Given the description of an element on the screen output the (x, y) to click on. 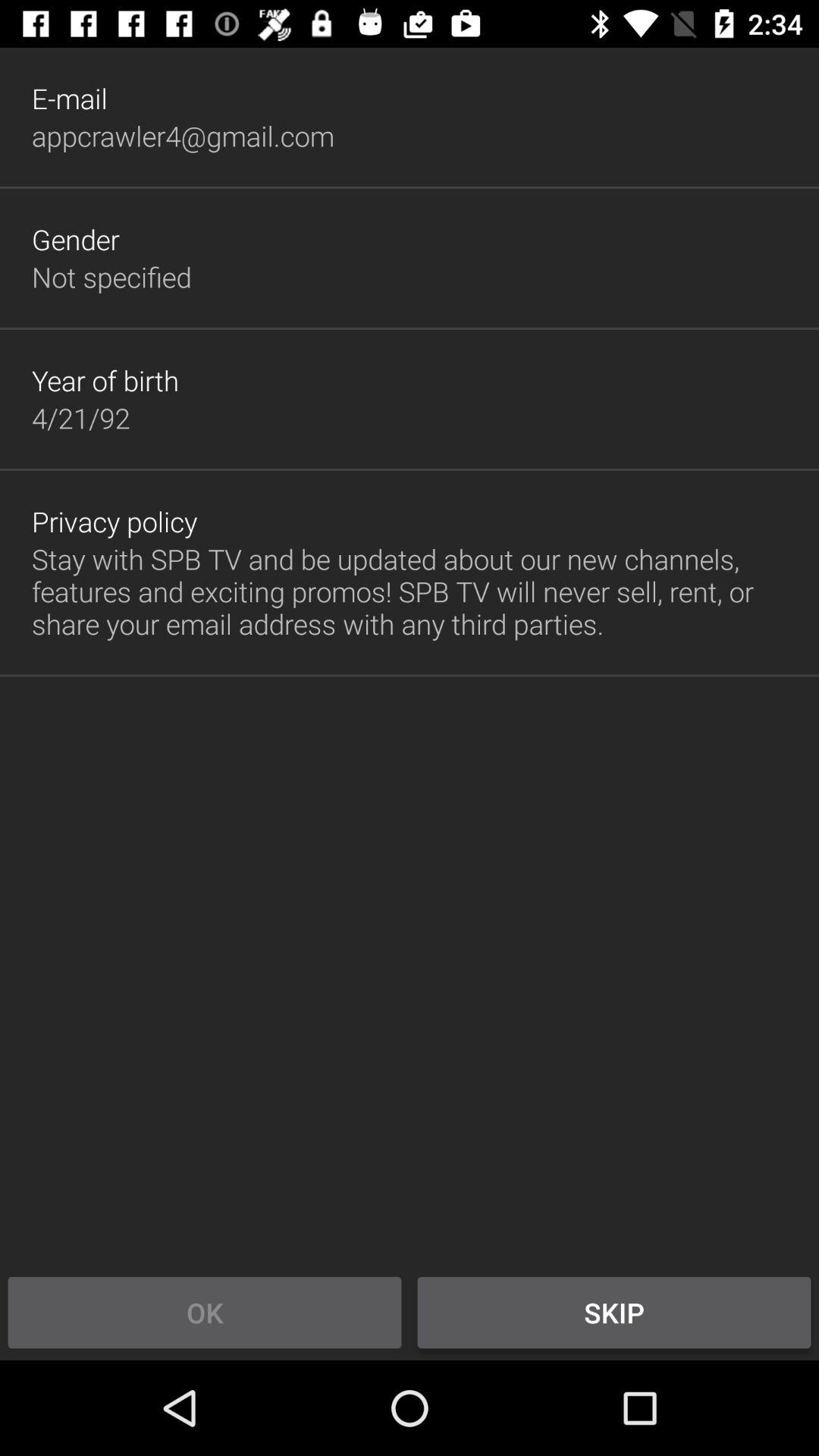
select button above the ok (409, 591)
